Given the description of an element on the screen output the (x, y) to click on. 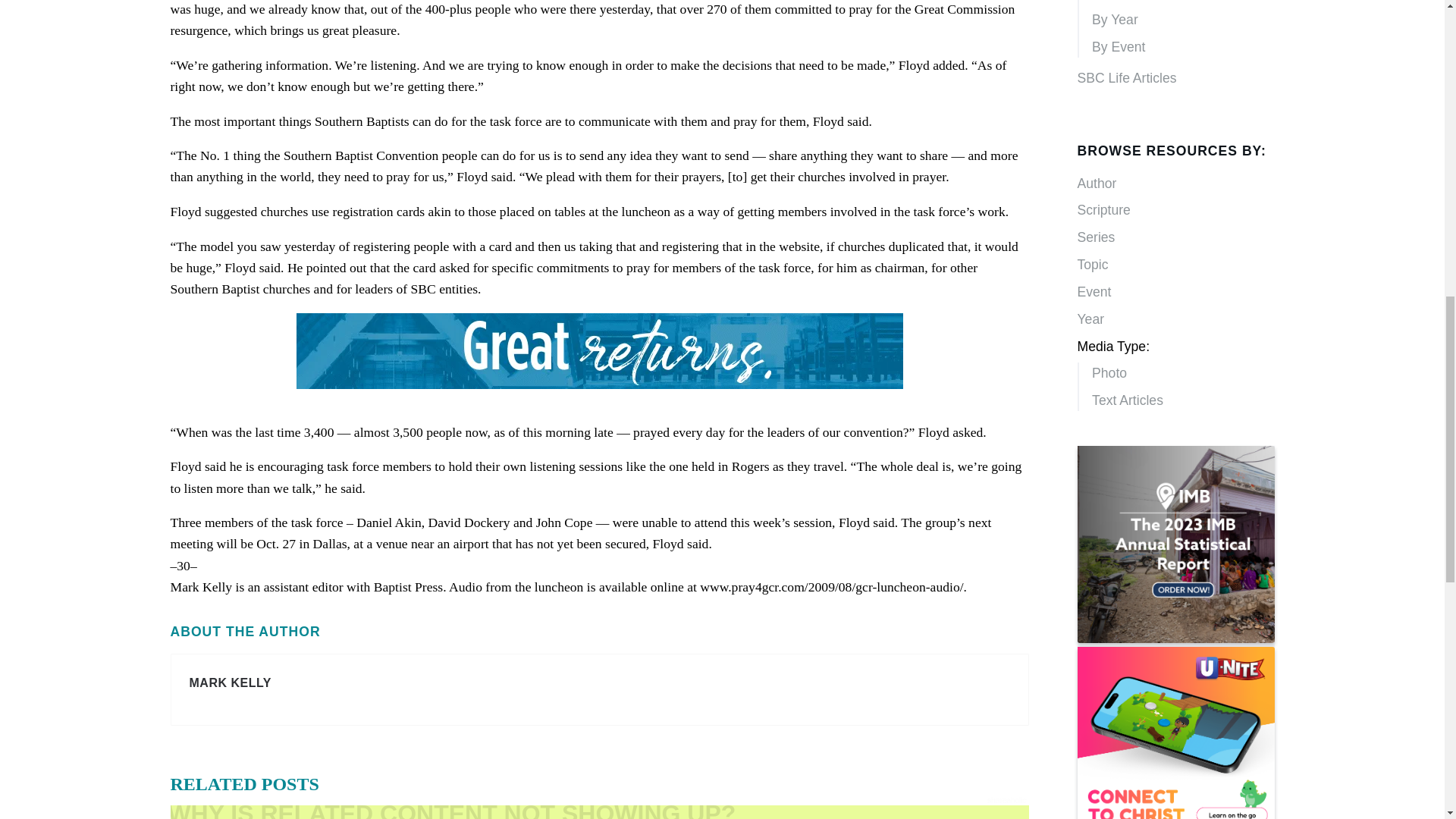
Why is Related Content not showing up? (598, 812)
Website Tools by Shareaholic (1006, 800)
shareaholic (1006, 800)
